Given the description of an element on the screen output the (x, y) to click on. 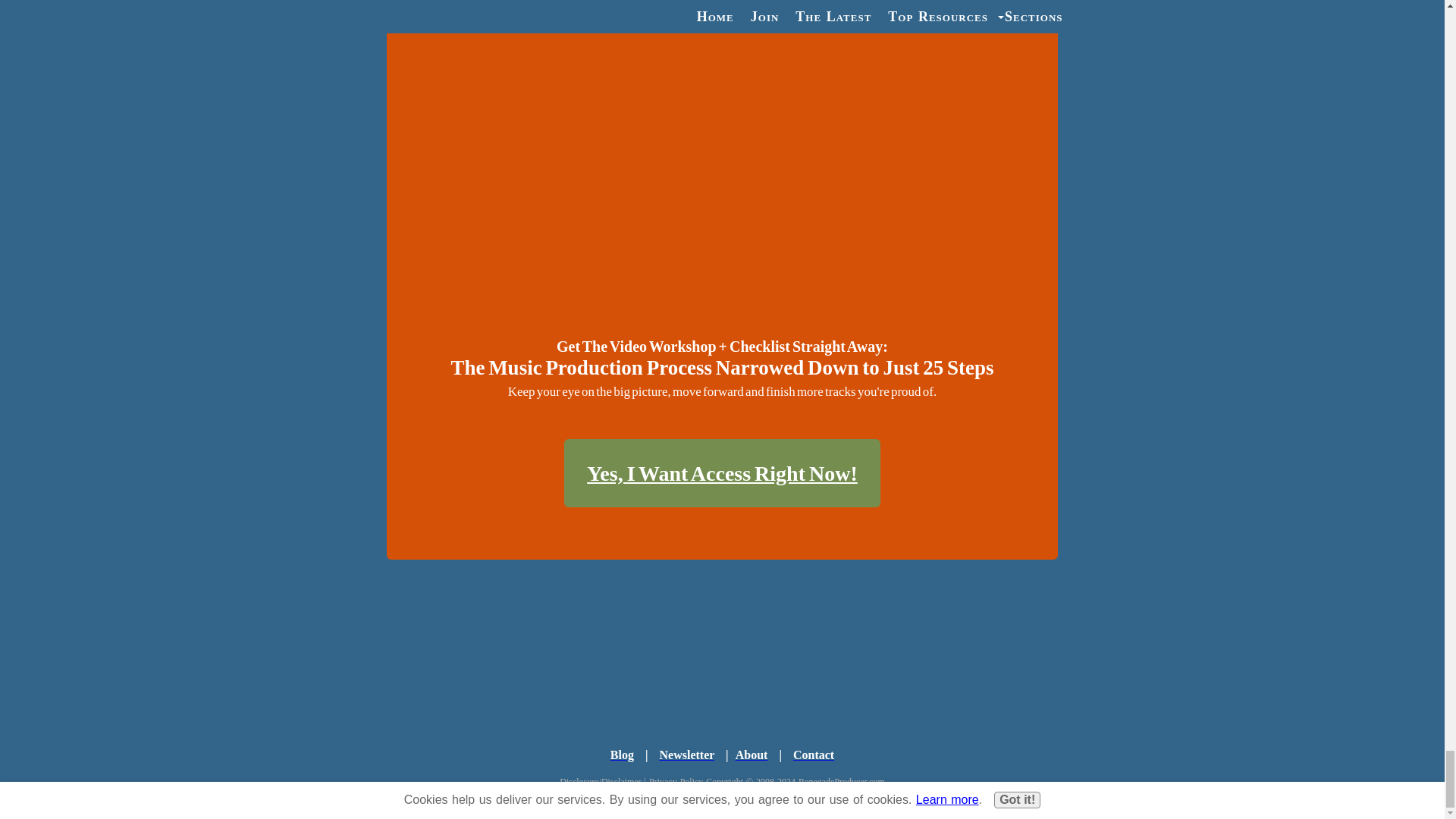
Yes, I Want Access Right Now! (722, 472)
Go to RenegadeProducer - Produce Music Like a Pro (722, 679)
